Given the description of an element on the screen output the (x, y) to click on. 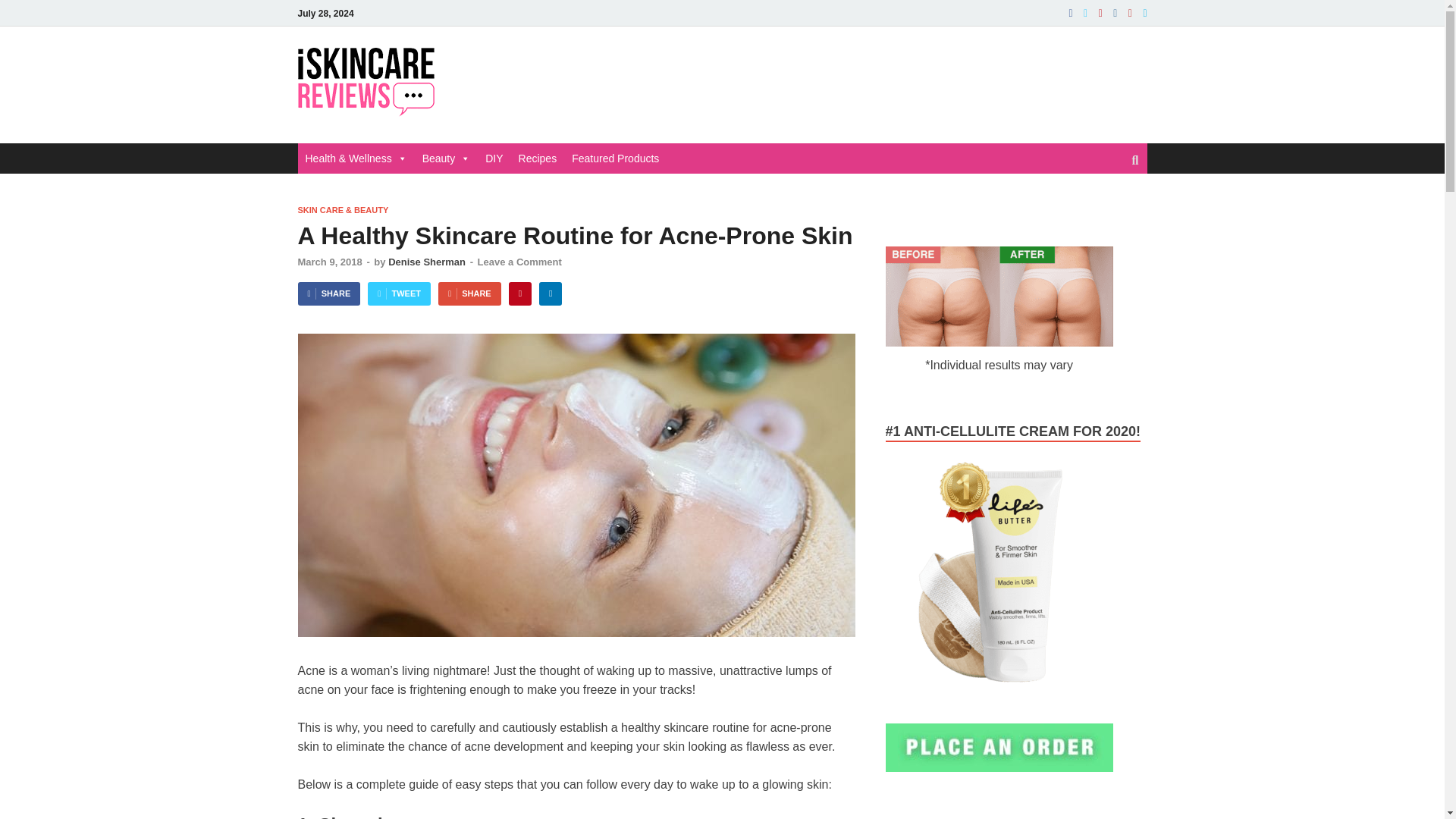
DIY (494, 158)
Beauty (446, 158)
Recipes (537, 158)
iSkinCareReviews (563, 77)
Featured Products (615, 158)
